Given the description of an element on the screen output the (x, y) to click on. 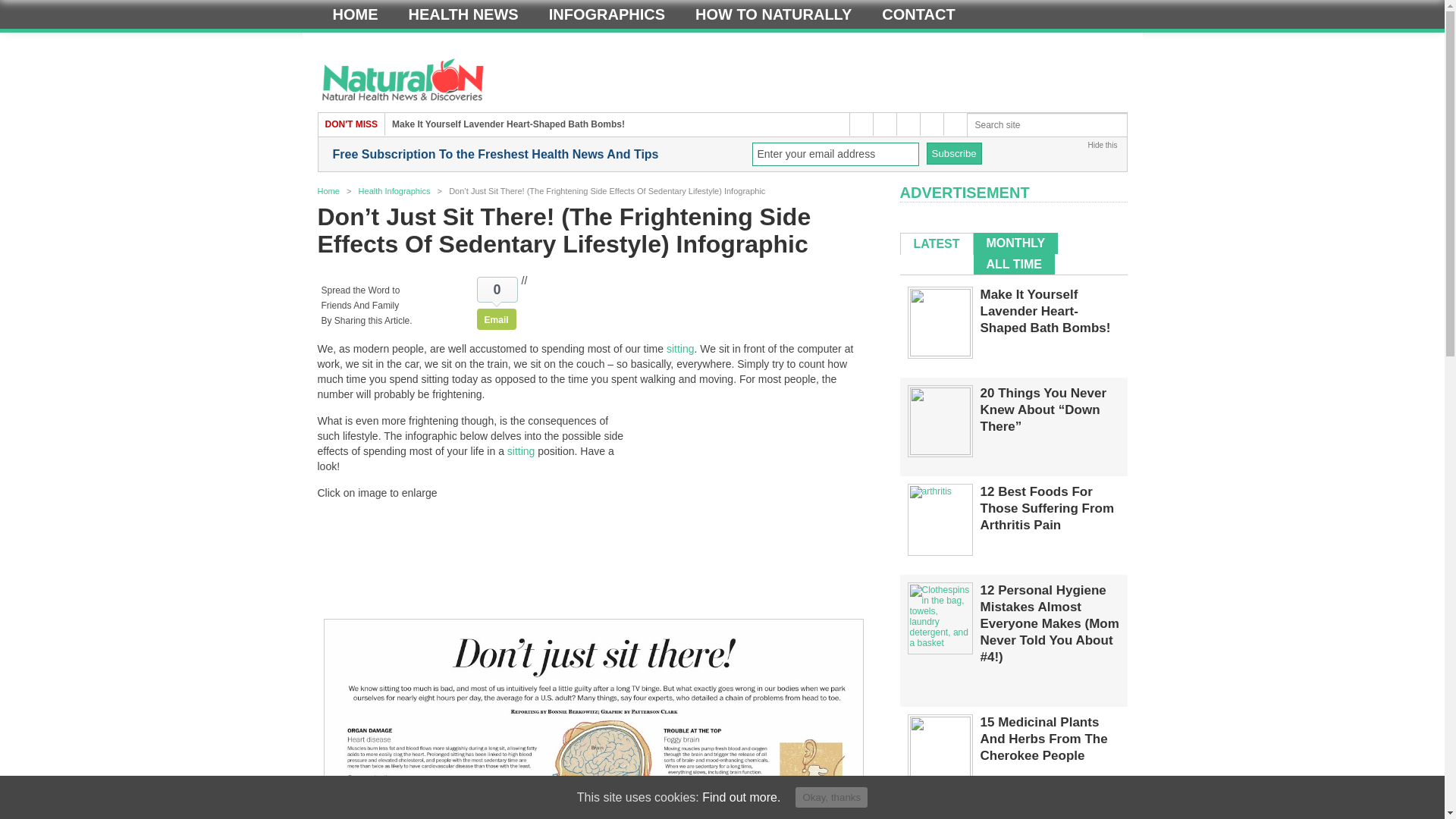
0 (497, 289)
Health Infographics (394, 190)
HEALTH NEWS (462, 14)
Email (496, 319)
Enter your email address (835, 154)
Make It Yourself Lavender Heart-Shaped Bath Bombs! (507, 123)
Home (355, 14)
Health News (462, 14)
Contact (917, 14)
Subscribe (953, 153)
Home (328, 190)
Search site (1047, 124)
Subscribe (953, 153)
HOW TO NATURALLY (772, 14)
HOME (355, 14)
